Given the description of an element on the screen output the (x, y) to click on. 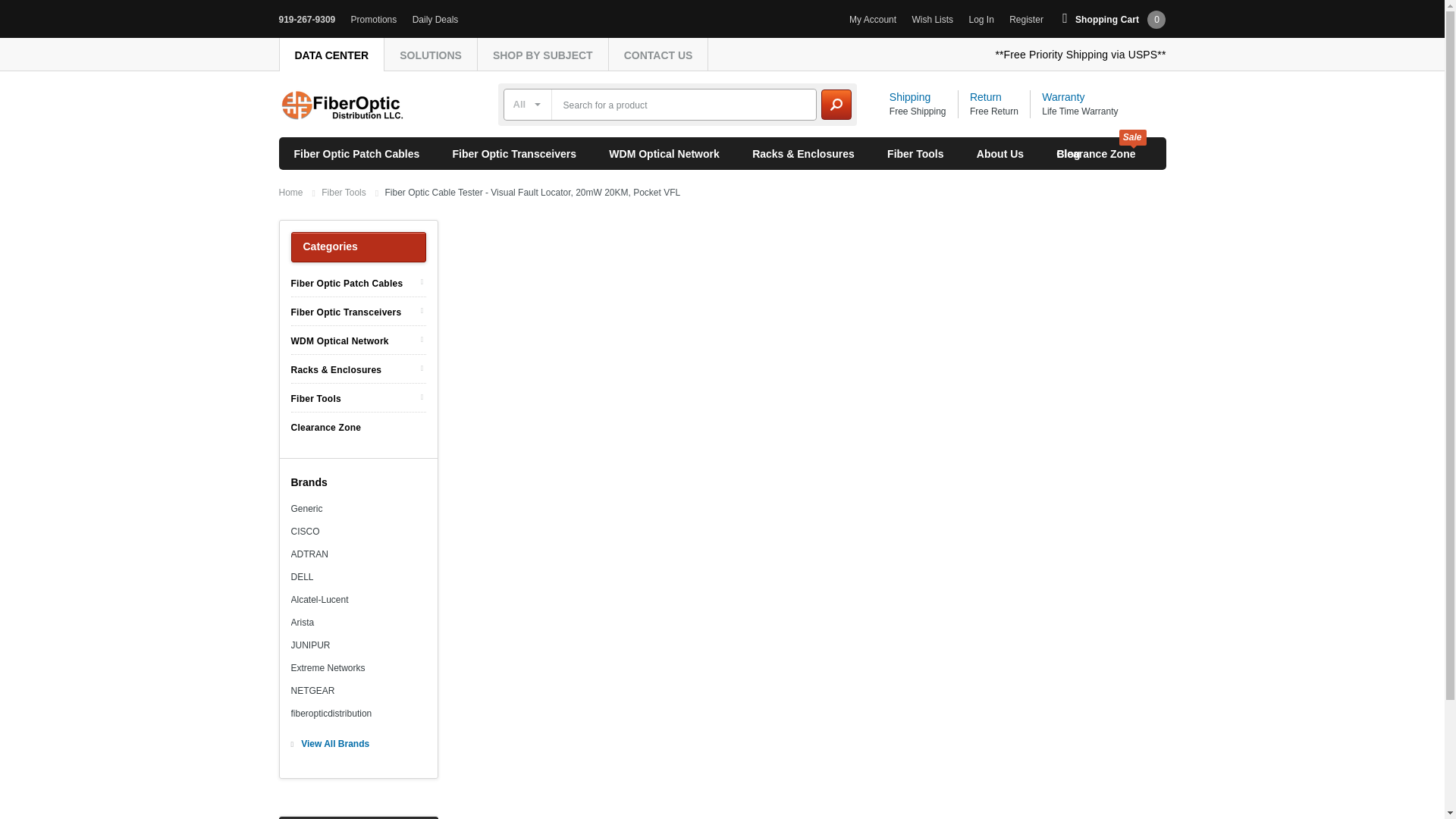
Return (985, 96)
My Account (872, 19)
919-267-9309 (307, 19)
Warranty (1063, 96)
Shipping (910, 96)
Register (1026, 19)
Promotions (373, 19)
Wish Lists (932, 19)
SHOP BY SUBJECT (542, 55)
DATA CENTER (331, 55)
